Given the description of an element on the screen output the (x, y) to click on. 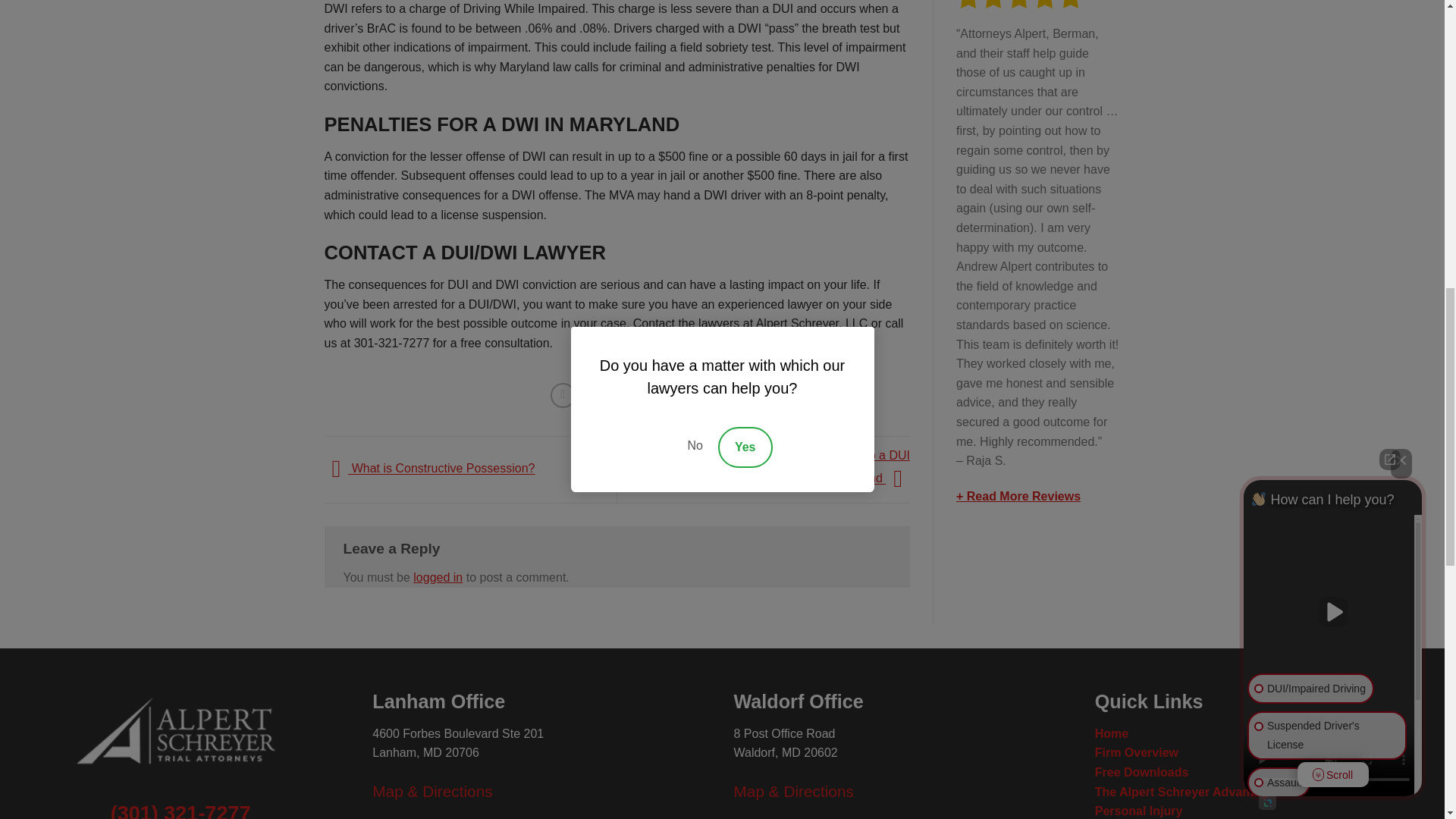
Pin on Pinterest (644, 395)
Share on Twitter (590, 395)
Share on LinkedIn (671, 395)
Email to a Friend (617, 395)
Share on Facebook (562, 395)
